Given the description of an element on the screen output the (x, y) to click on. 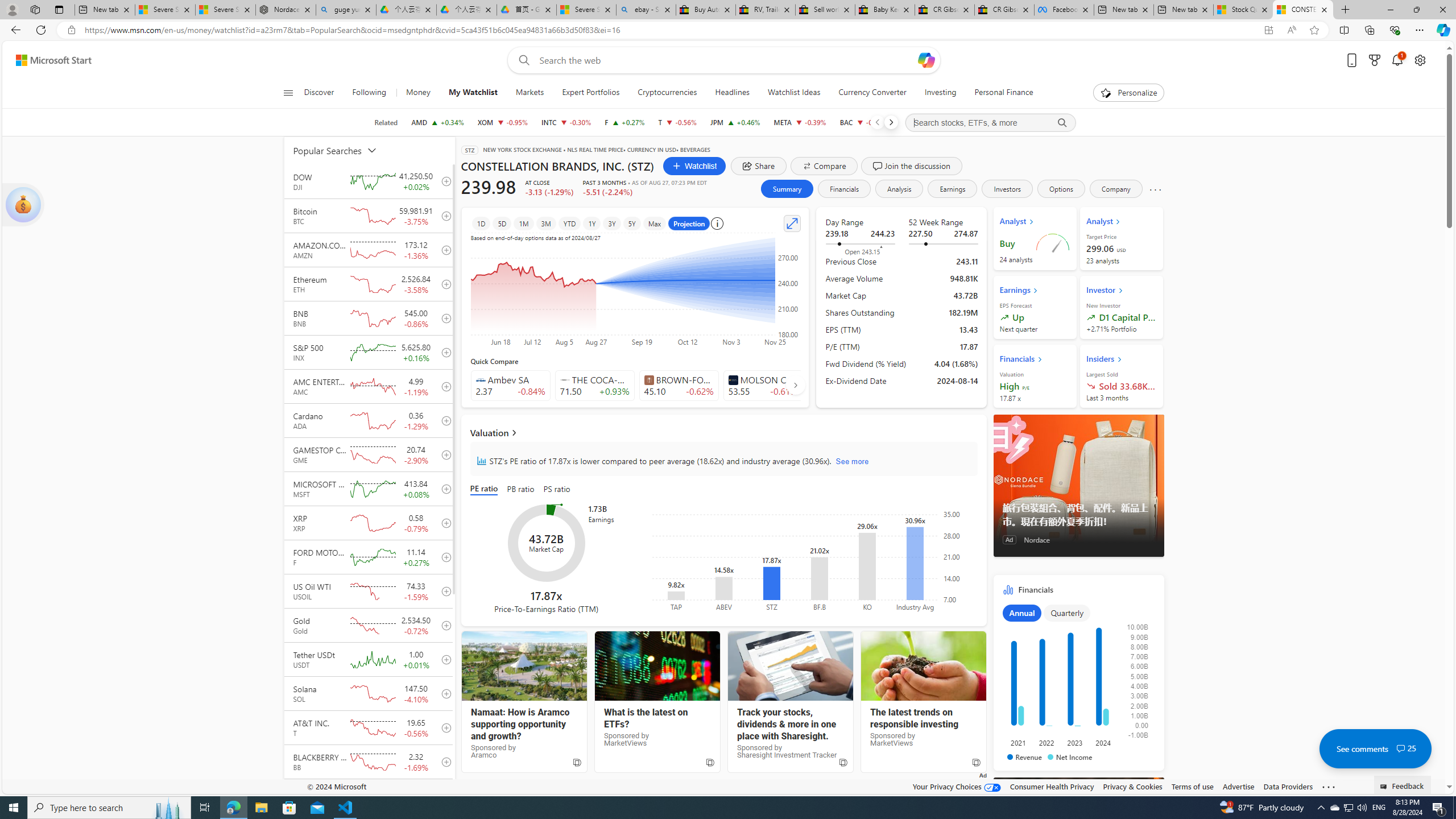
Privacy & Cookies (1131, 785)
XOM EXXON MOBIL CORPORATION decrease 117.68 -1.13 -0.95% (502, 122)
PB ratio (520, 489)
Terms of use (1192, 785)
Sharesight Investment Tracker (790, 666)
PE ratio (486, 489)
PS ratio (556, 489)
